Given the description of an element on the screen output the (x, y) to click on. 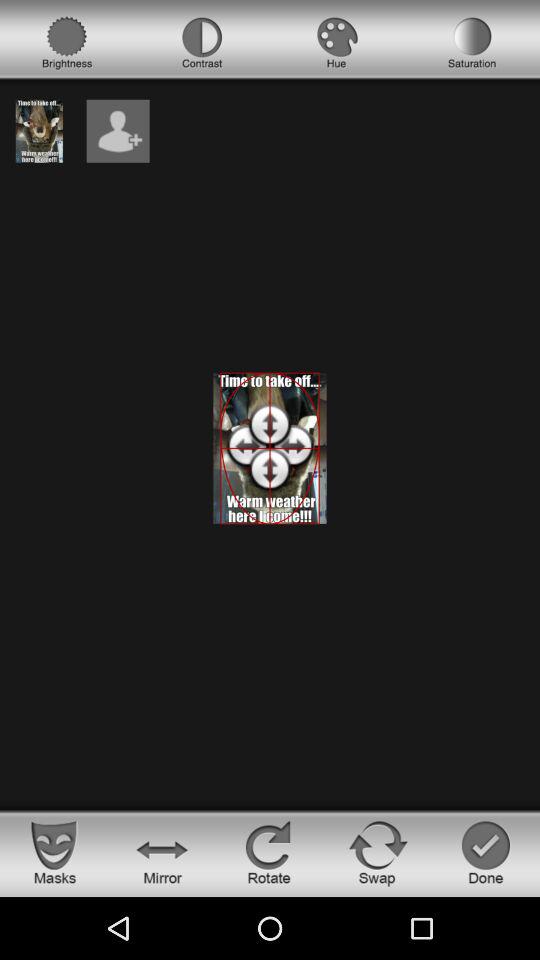
mirror option (161, 852)
